Given the description of an element on the screen output the (x, y) to click on. 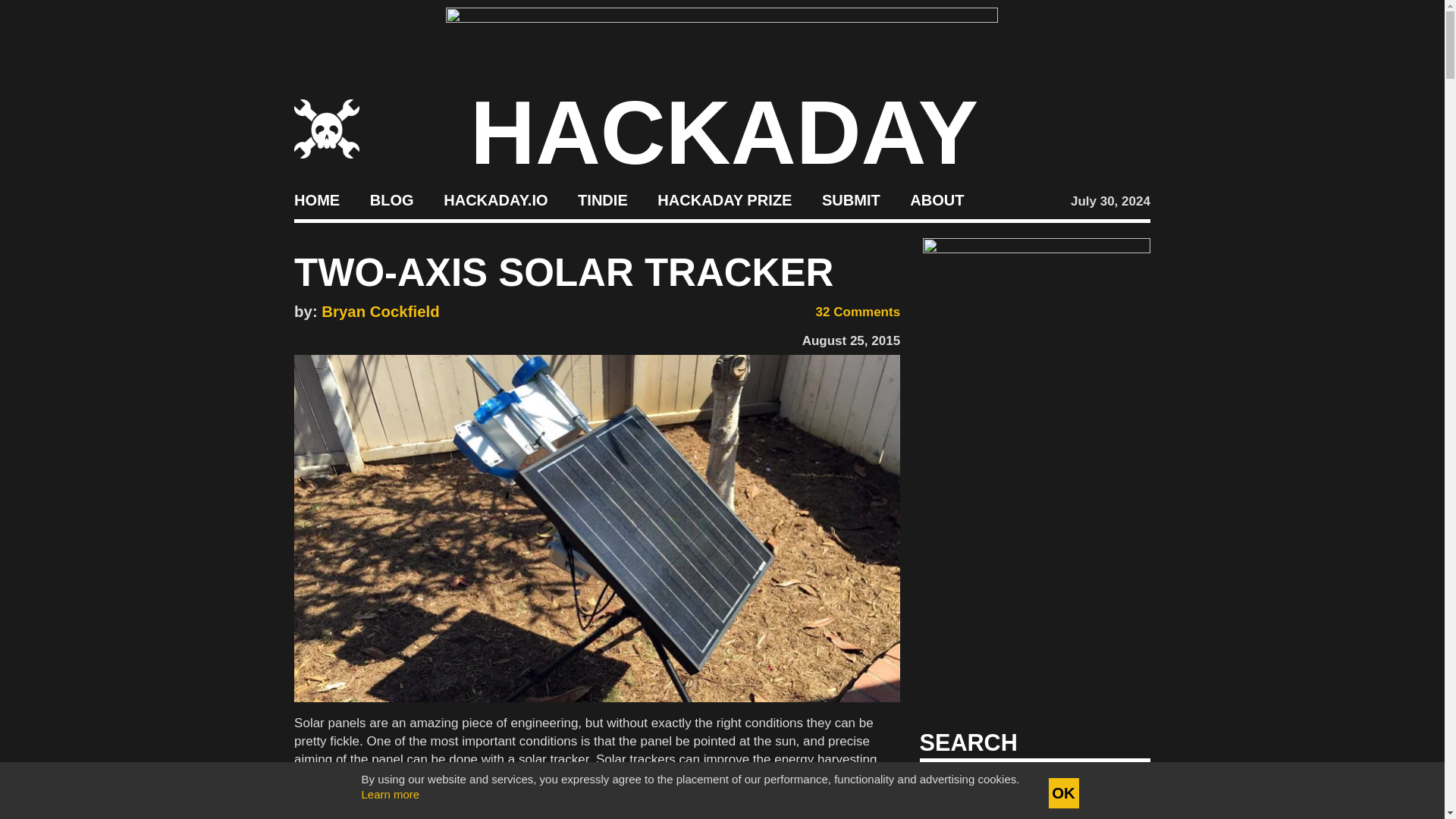
HACKADAY.IO (495, 200)
Posts by Bryan Cockfield (380, 311)
Share on Facebook (301, 336)
Share on Hacker News (347, 336)
August 25, 2015 (850, 340)
August 25, 2015 - 7:01 pm (850, 340)
HOME (316, 200)
32 Comments (847, 312)
SUBMIT (851, 200)
BLOG (391, 200)
Share on Twitter (324, 336)
Search (1115, 787)
TINDIE (602, 200)
Share on Reddit (369, 336)
